Given the description of an element on the screen output the (x, y) to click on. 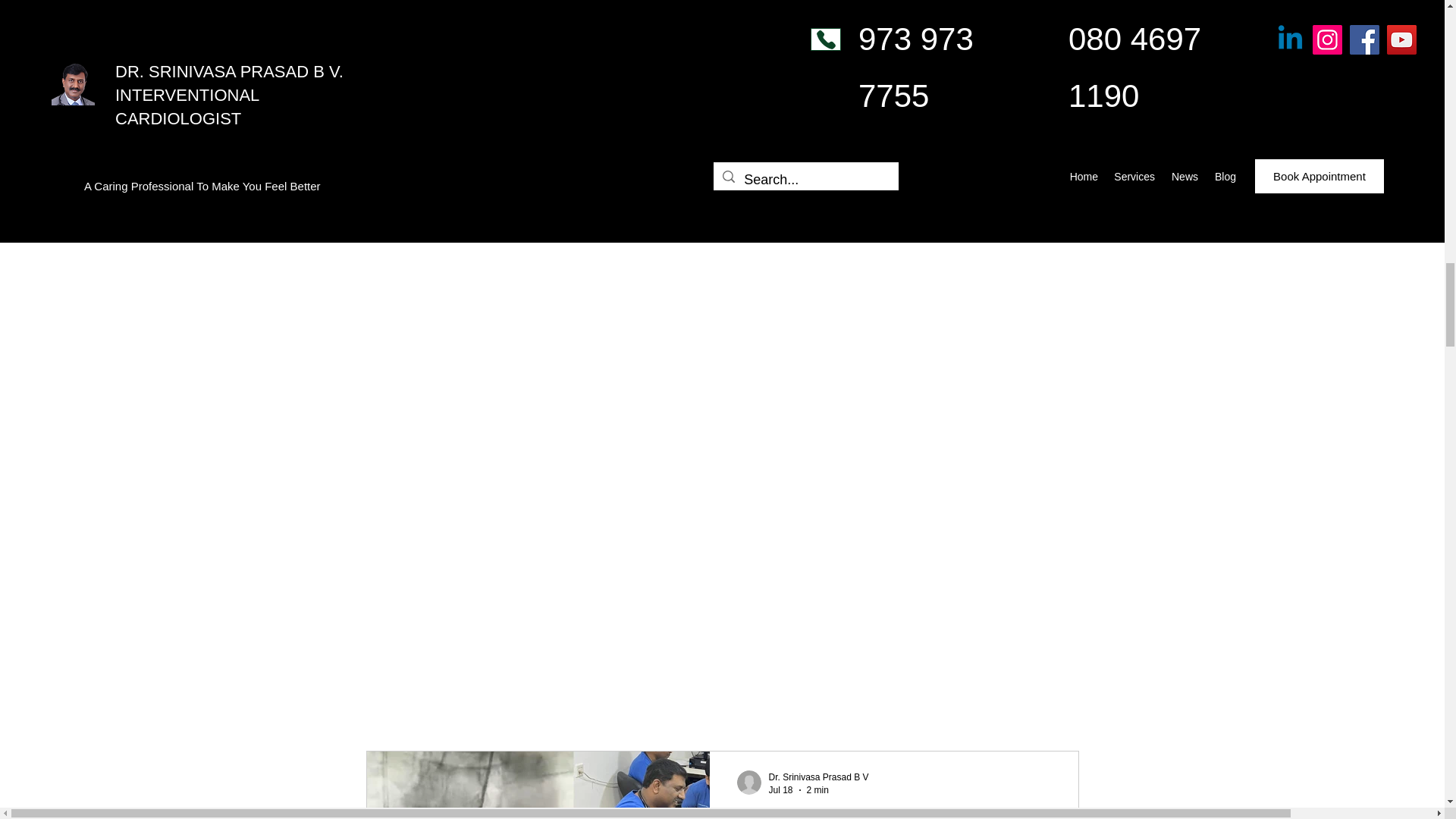
Dr. Srinivasa Prasad B V (818, 777)
Jul 18 (780, 789)
2 min (817, 789)
